Given the description of an element on the screen output the (x, y) to click on. 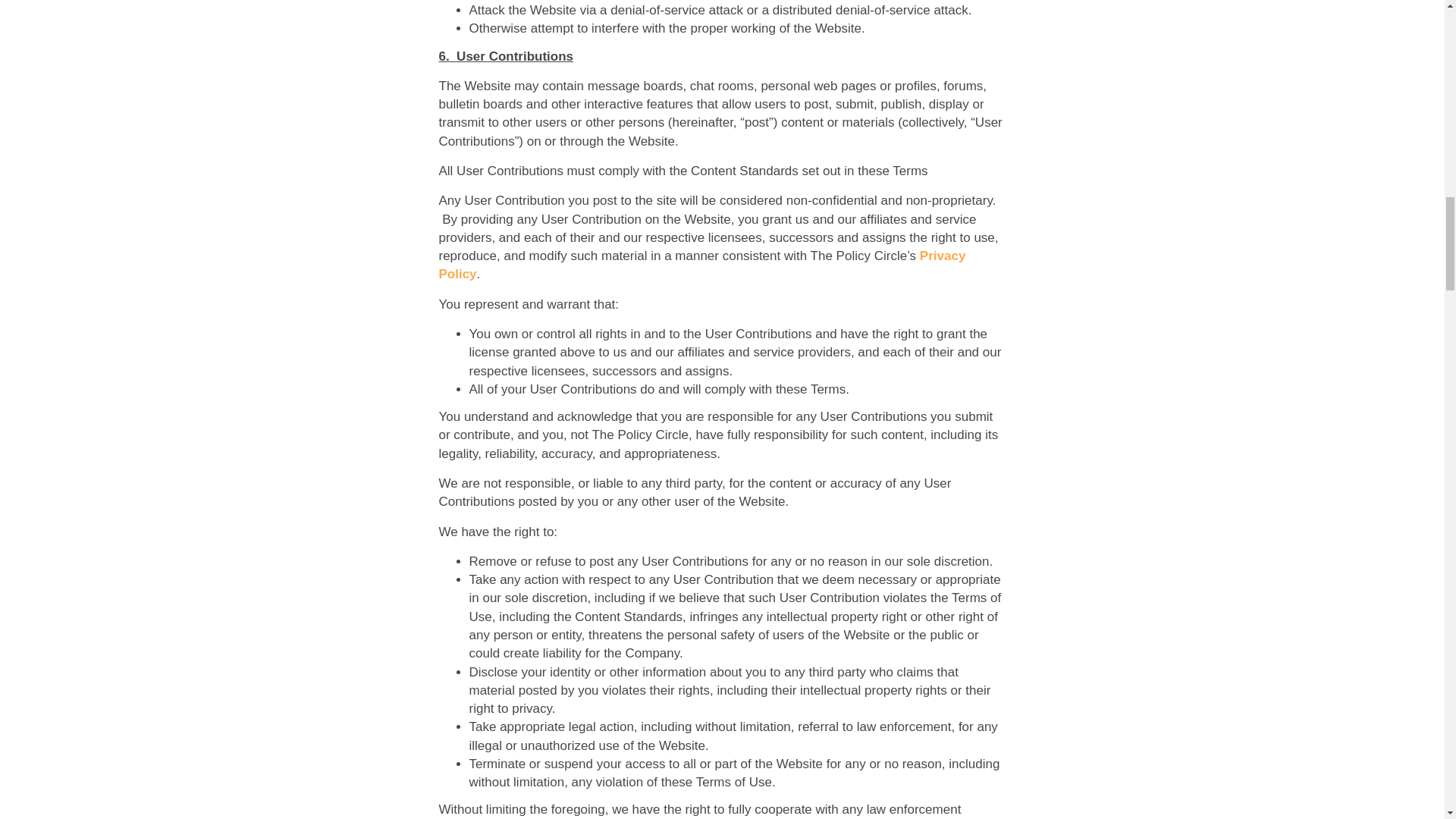
Privacy Policy (701, 264)
